Given the description of an element on the screen output the (x, y) to click on. 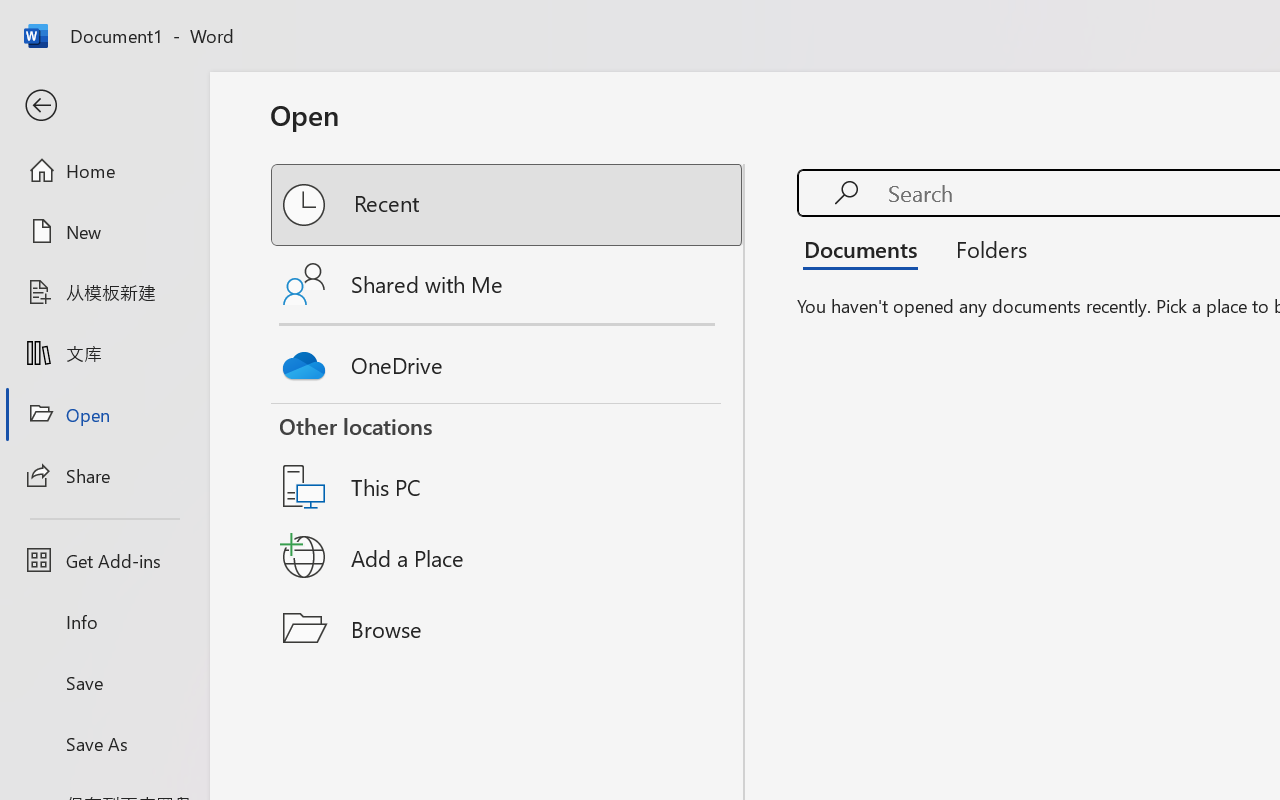
OneDrive (507, 359)
This PC (507, 461)
Folders (984, 248)
Get Add-ins (104, 560)
Browse (507, 627)
